Given the description of an element on the screen output the (x, y) to click on. 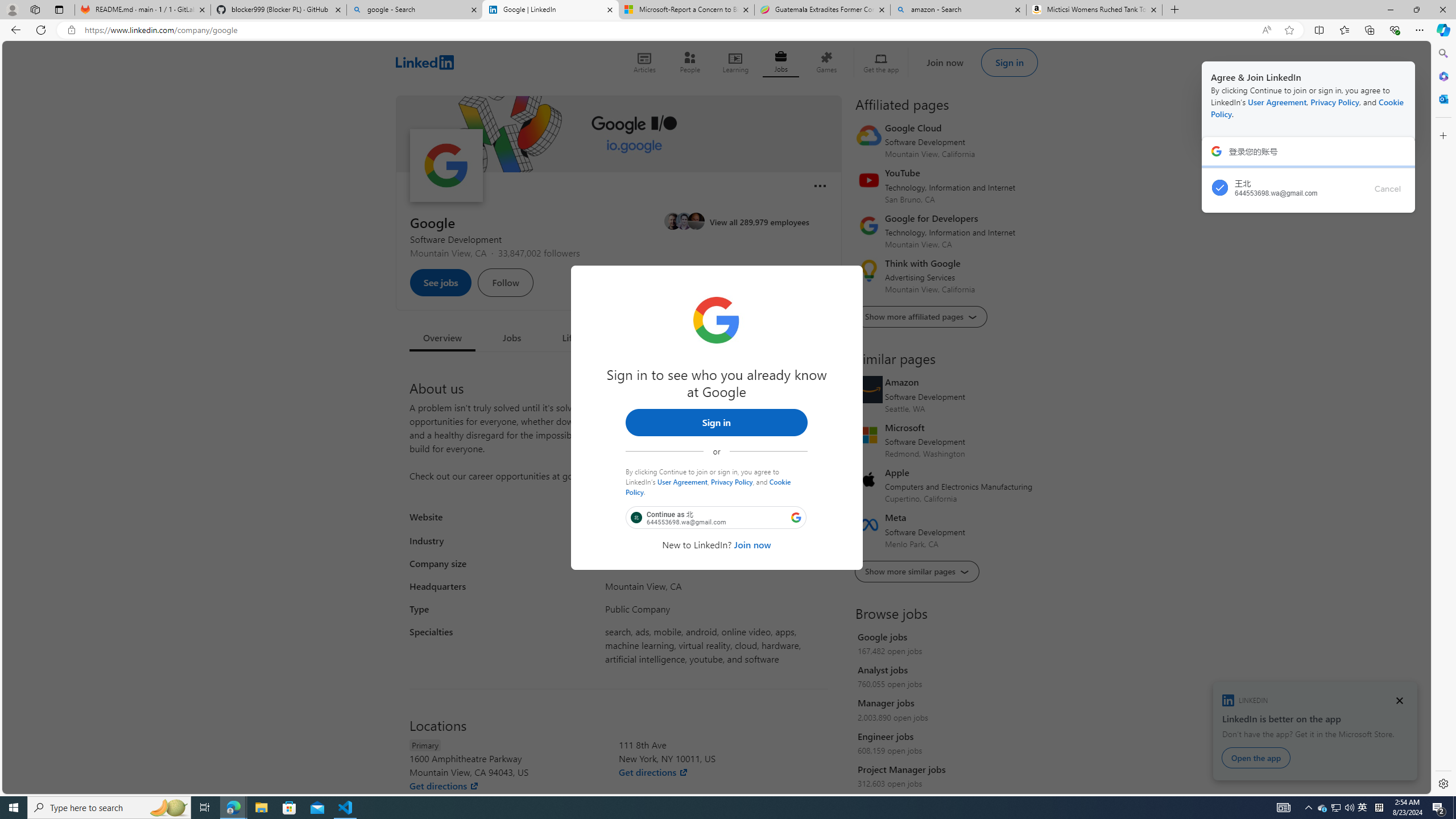
Google | LinkedIn (550, 9)
Join now (752, 544)
amazon - Search (957, 9)
Privacy Policy (731, 481)
